Given the description of an element on the screen output the (x, y) to click on. 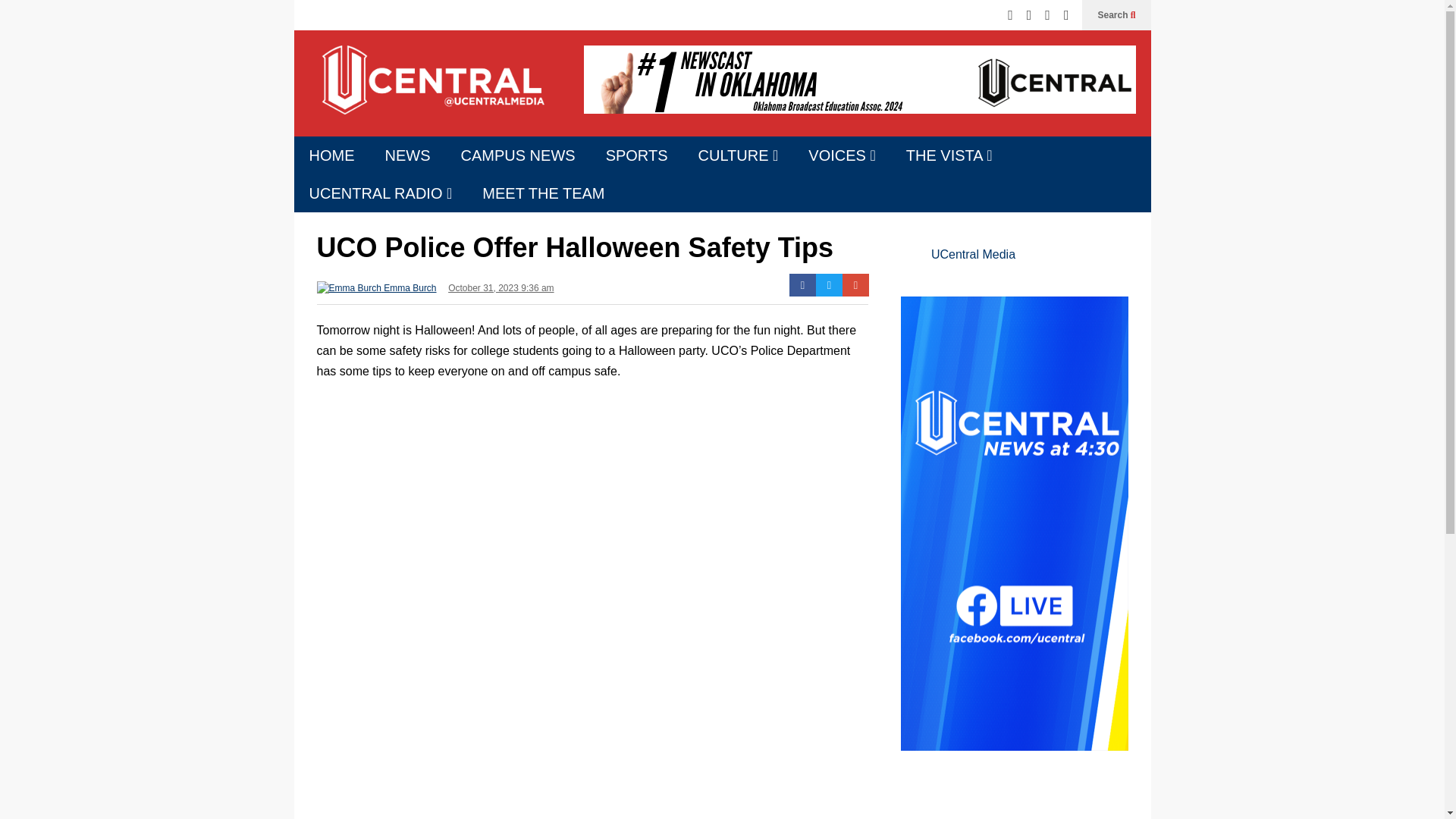
MEET THE TEAM (543, 193)
Search (1116, 15)
VOICES (841, 155)
Facebook (802, 284)
SPORTS (636, 155)
HOME (331, 155)
UCentral Media (430, 90)
E-mail (856, 284)
THE VISTA (949, 155)
UCENTRAL RADIO (380, 193)
CAMPUS NEWS (518, 155)
CULTURE (737, 155)
NEWS (407, 155)
Twitter (829, 284)
